Given the description of an element on the screen output the (x, y) to click on. 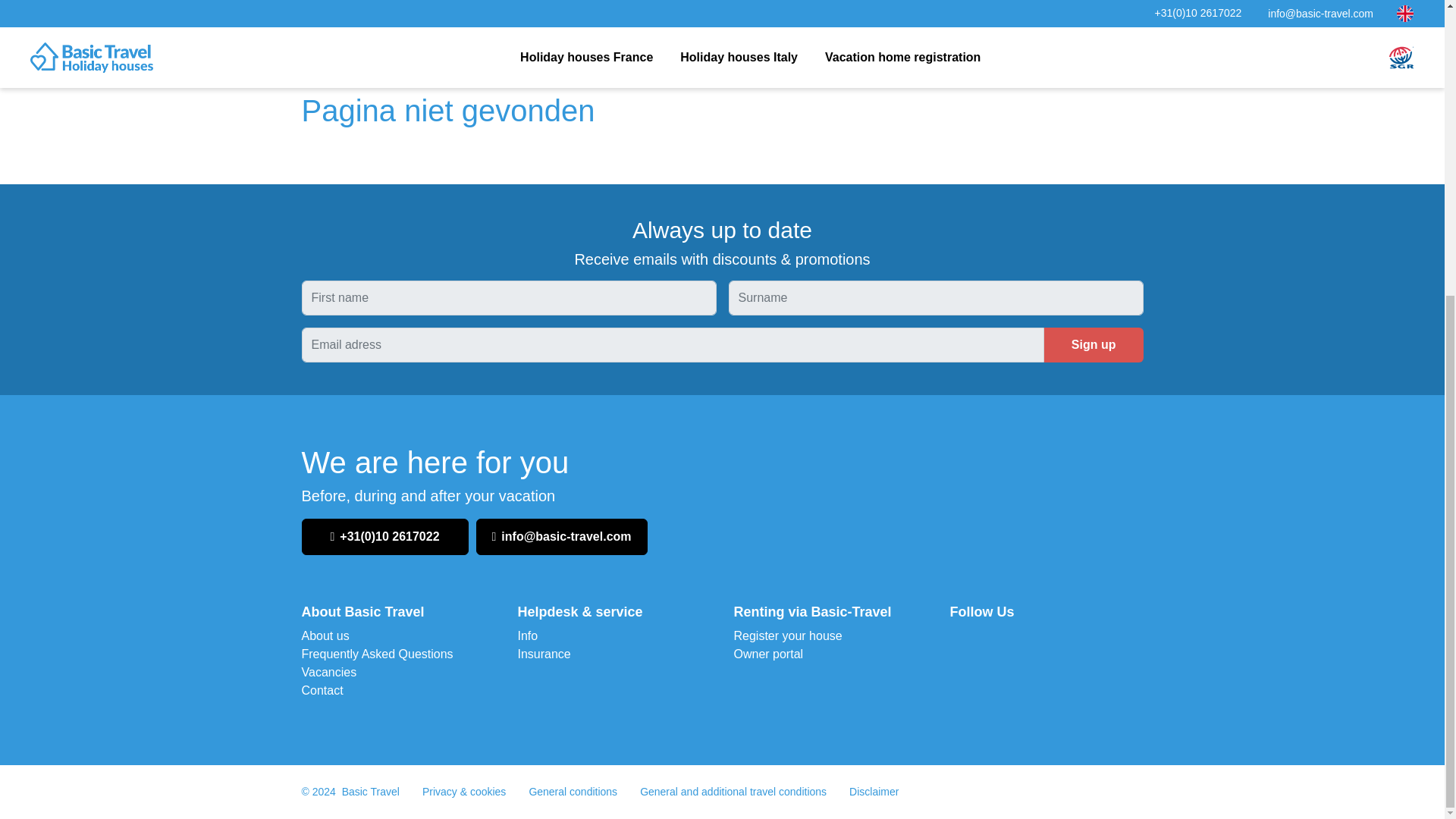
Owner portal (768, 653)
General and additional travel conditions (733, 791)
Contact (322, 689)
Insurance (543, 653)
Sign up (1092, 344)
Vacancies (328, 671)
General conditions (572, 791)
Frequently Asked Questions (376, 653)
Register your house (788, 635)
Info (526, 635)
